Given the description of an element on the screen output the (x, y) to click on. 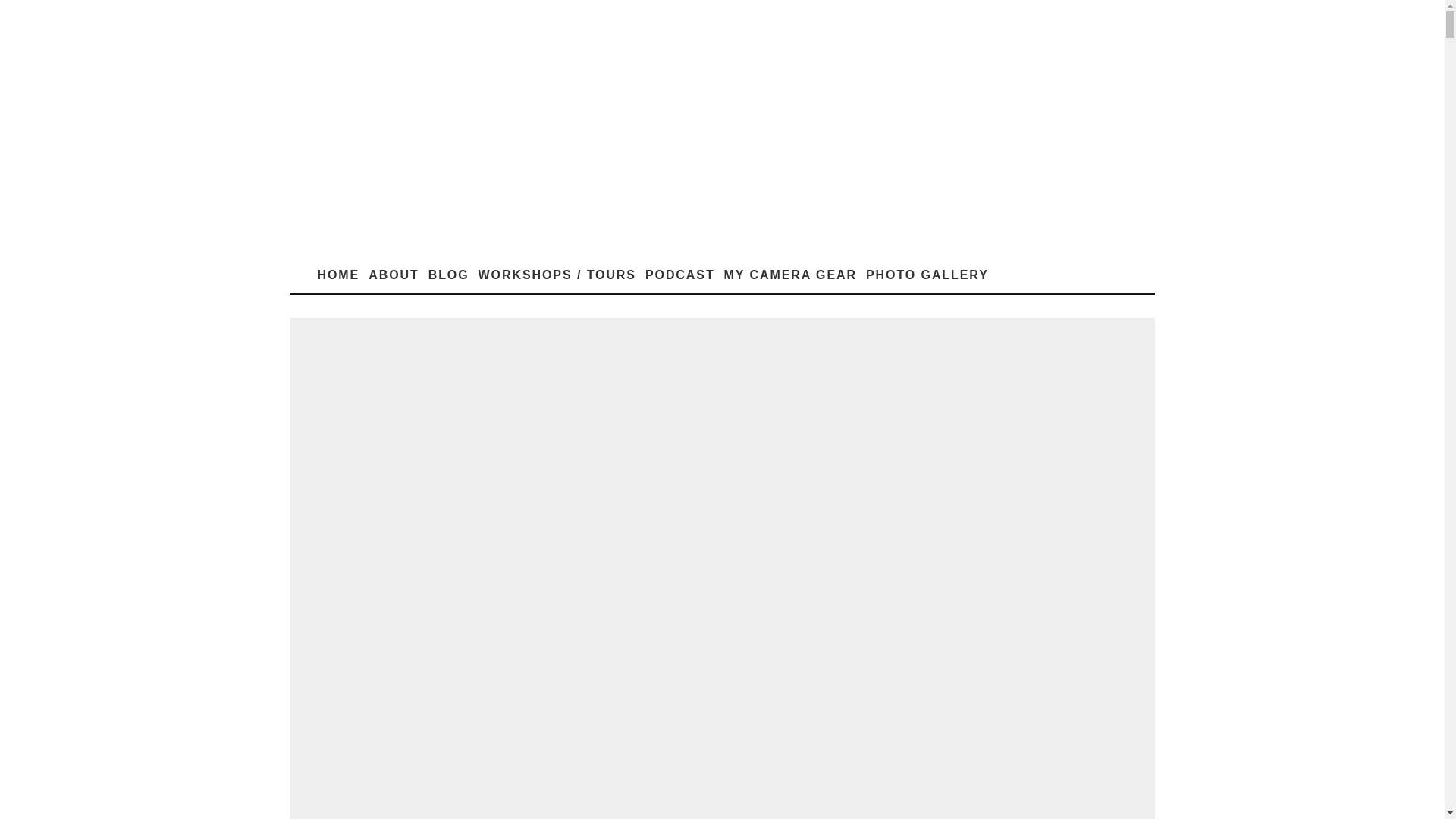
PODCAST (679, 274)
BLOG (448, 274)
PHOTO GALLERY (926, 274)
MY CAMERA GEAR (790, 274)
ABOUT (393, 274)
HOME (338, 274)
